Given the description of an element on the screen output the (x, y) to click on. 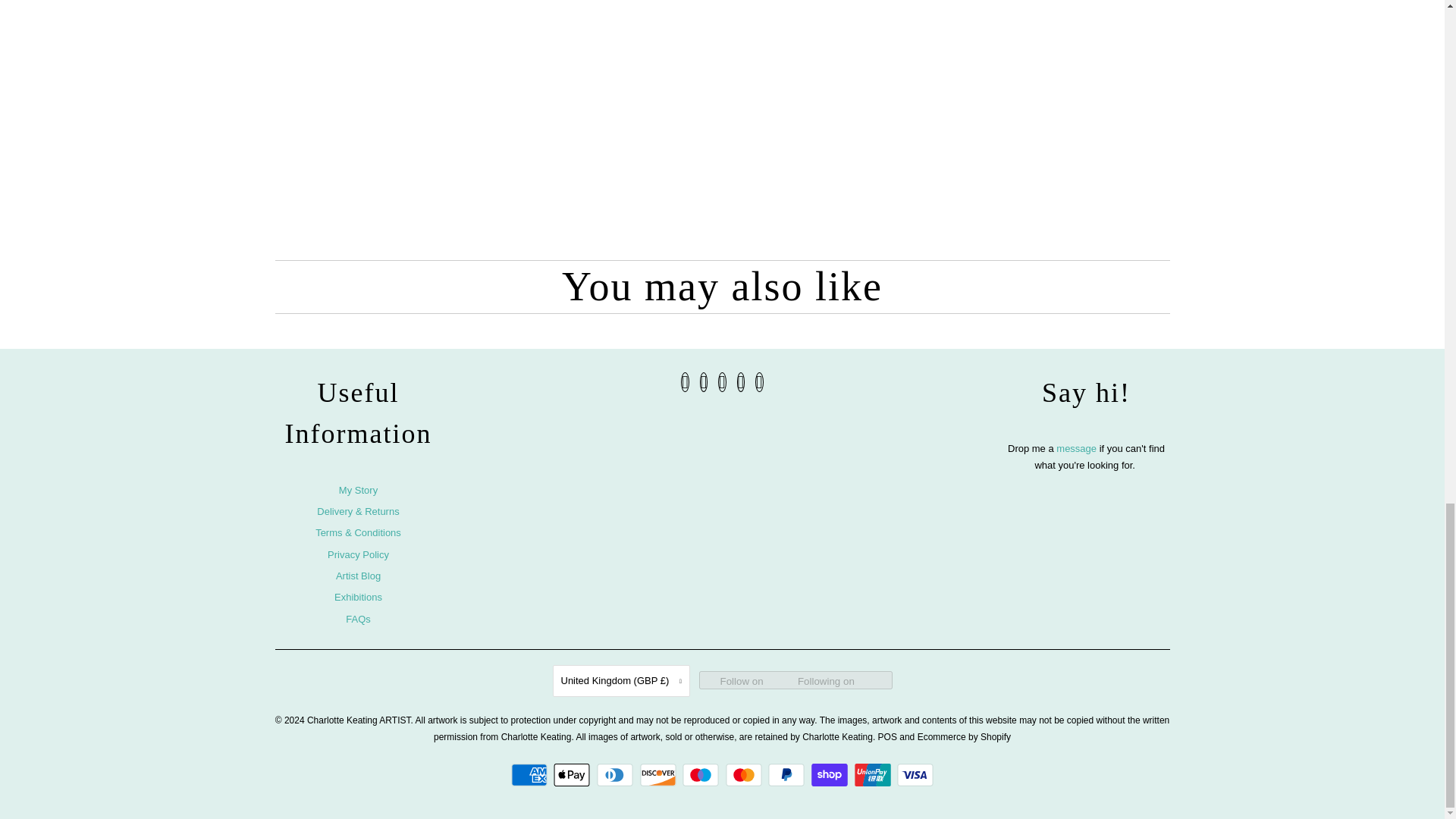
Diners Club (616, 774)
Maestro (702, 774)
Union Pay (874, 774)
Discover (659, 774)
Visa (914, 774)
PayPal (788, 774)
Contact (1078, 447)
Apple Pay (573, 774)
American Express (531, 774)
Shop Pay (830, 774)
